Given the description of an element on the screen output the (x, y) to click on. 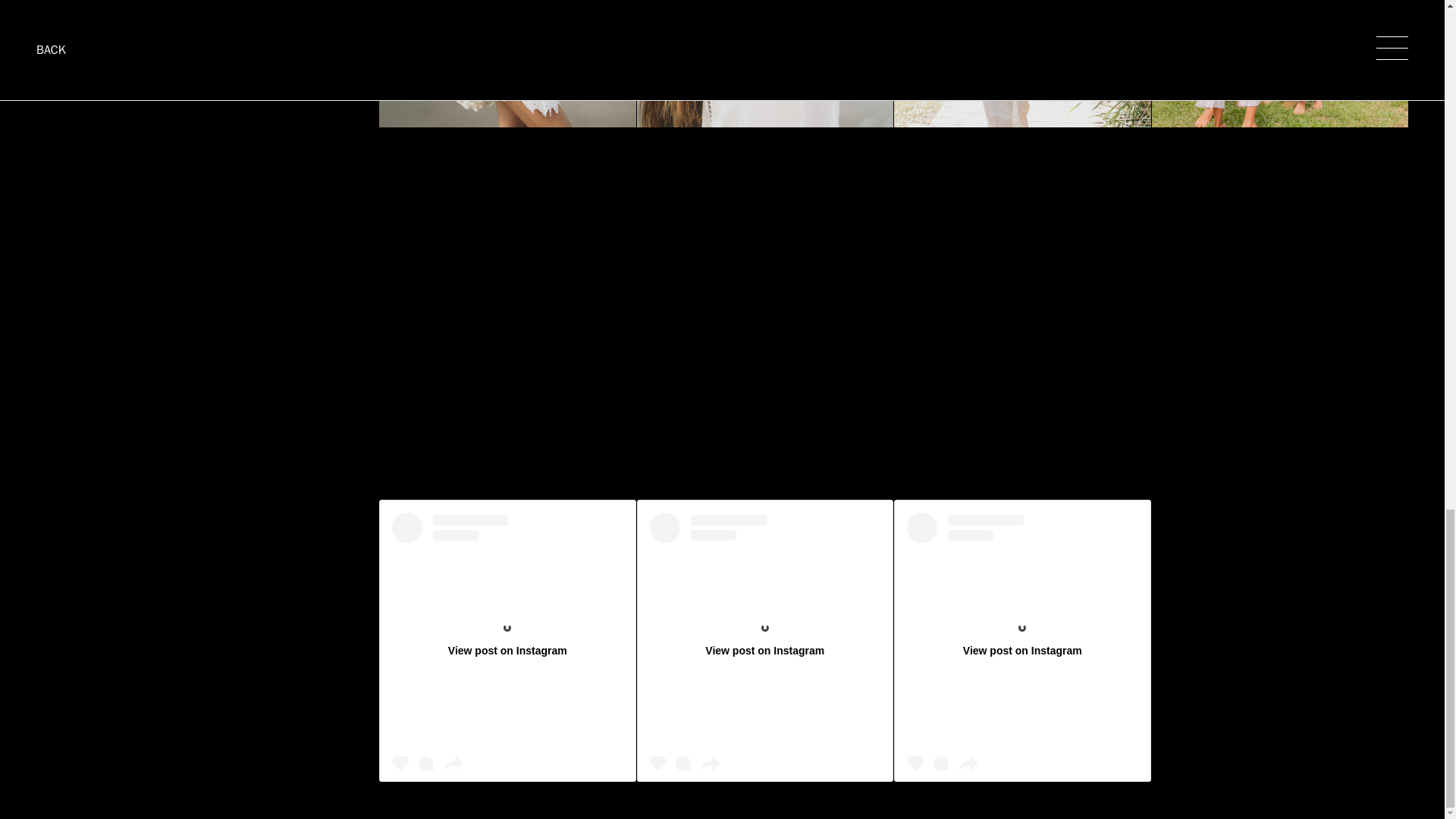
View post on Instagram (764, 640)
View post on Instagram (507, 640)
View post on Instagram (1022, 640)
